Given the description of an element on the screen output the (x, y) to click on. 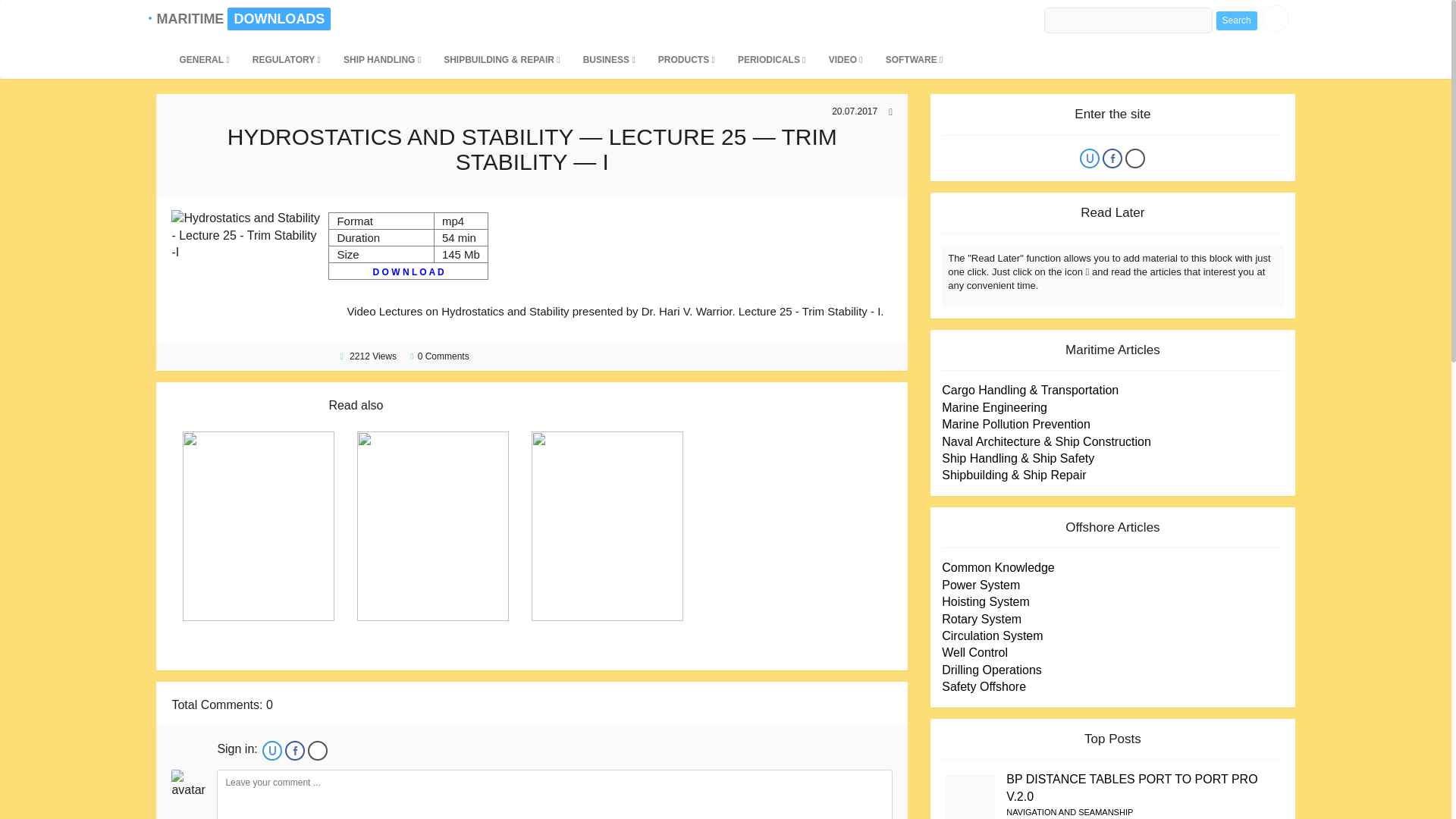
Log in with Google (1134, 158)
Search (1236, 20)
Search (1236, 20)
SHIP HANDLING (381, 59)
Log in with Google (317, 750)
Log in with Facebook (1112, 158)
NAVIGATION AND SEAMANSHIP (1069, 811)
Log in with uID (1089, 158)
GENERAL (203, 59)
Log in with Facebook (294, 750)
